Given the description of an element on the screen output the (x, y) to click on. 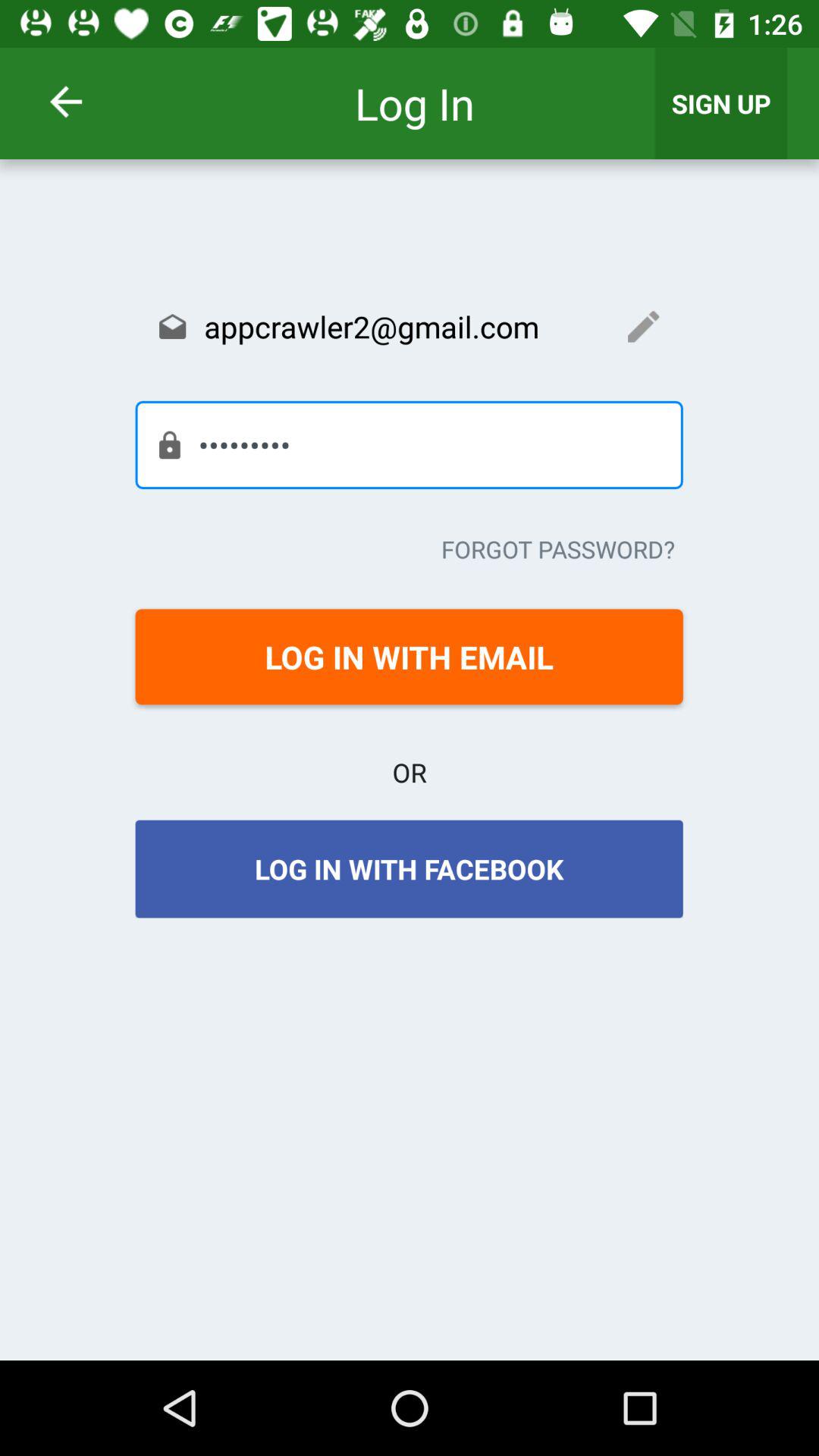
press the icon above the crowd3116 icon (409, 326)
